Given the description of an element on the screen output the (x, y) to click on. 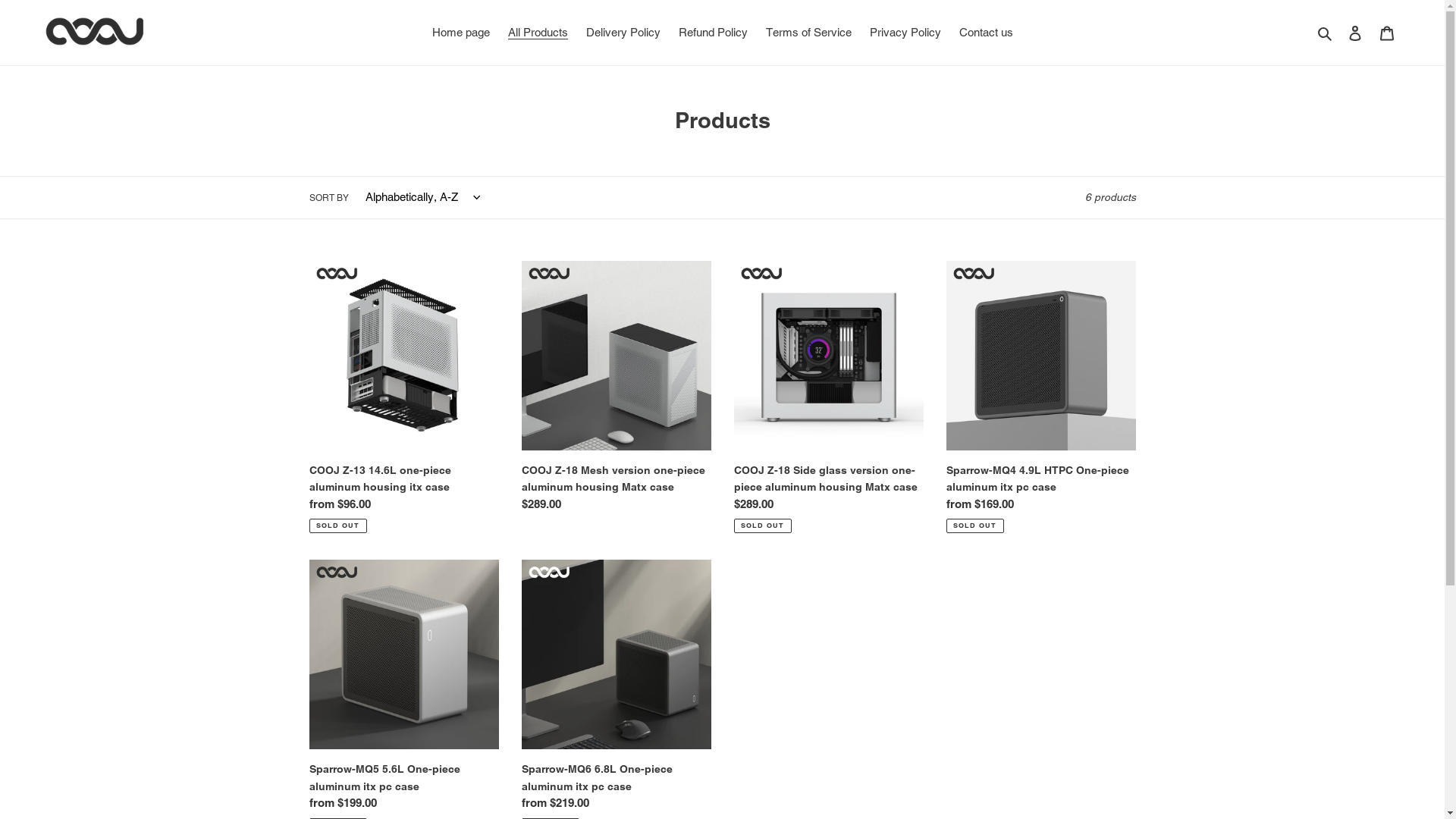
Sparrow-MQ4 4.9L HTPC One-piece aluminum itx pc case Element type: text (1040, 396)
Home page Element type: text (460, 32)
All Products Element type: text (537, 32)
Log in Element type: text (1355, 32)
COOJ Z-18 Mesh version one-piece aluminum housing Matx case Element type: text (616, 389)
Search Element type: text (1325, 32)
Contact us Element type: text (984, 32)
COOJ Z-13 14.6L one-piece aluminum housing itx case Element type: text (403, 396)
Cart Element type: text (1386, 32)
Terms of Service Element type: text (808, 32)
Privacy Policy Element type: text (904, 32)
Refund Policy Element type: text (712, 32)
Delivery Policy Element type: text (622, 32)
